Given the description of an element on the screen output the (x, y) to click on. 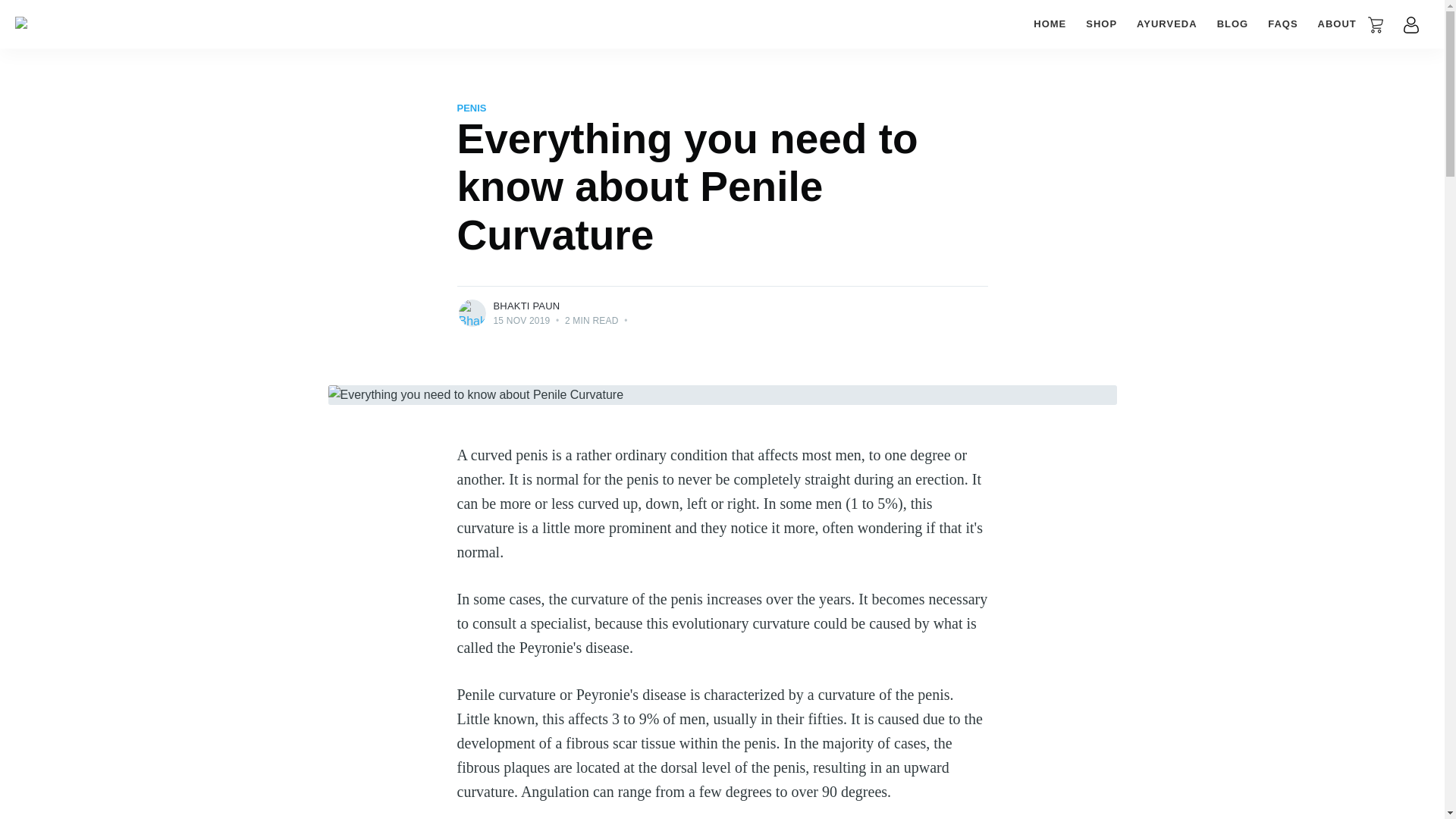
BLOG (1233, 24)
SHOP (1101, 24)
FAQS (1282, 24)
PENIS (471, 108)
Cart (1375, 24)
Profile (1410, 24)
AYURVEDA (1166, 24)
HOME (1049, 24)
BHAKTI PAUN (526, 306)
ABOUT (1336, 24)
